Given the description of an element on the screen output the (x, y) to click on. 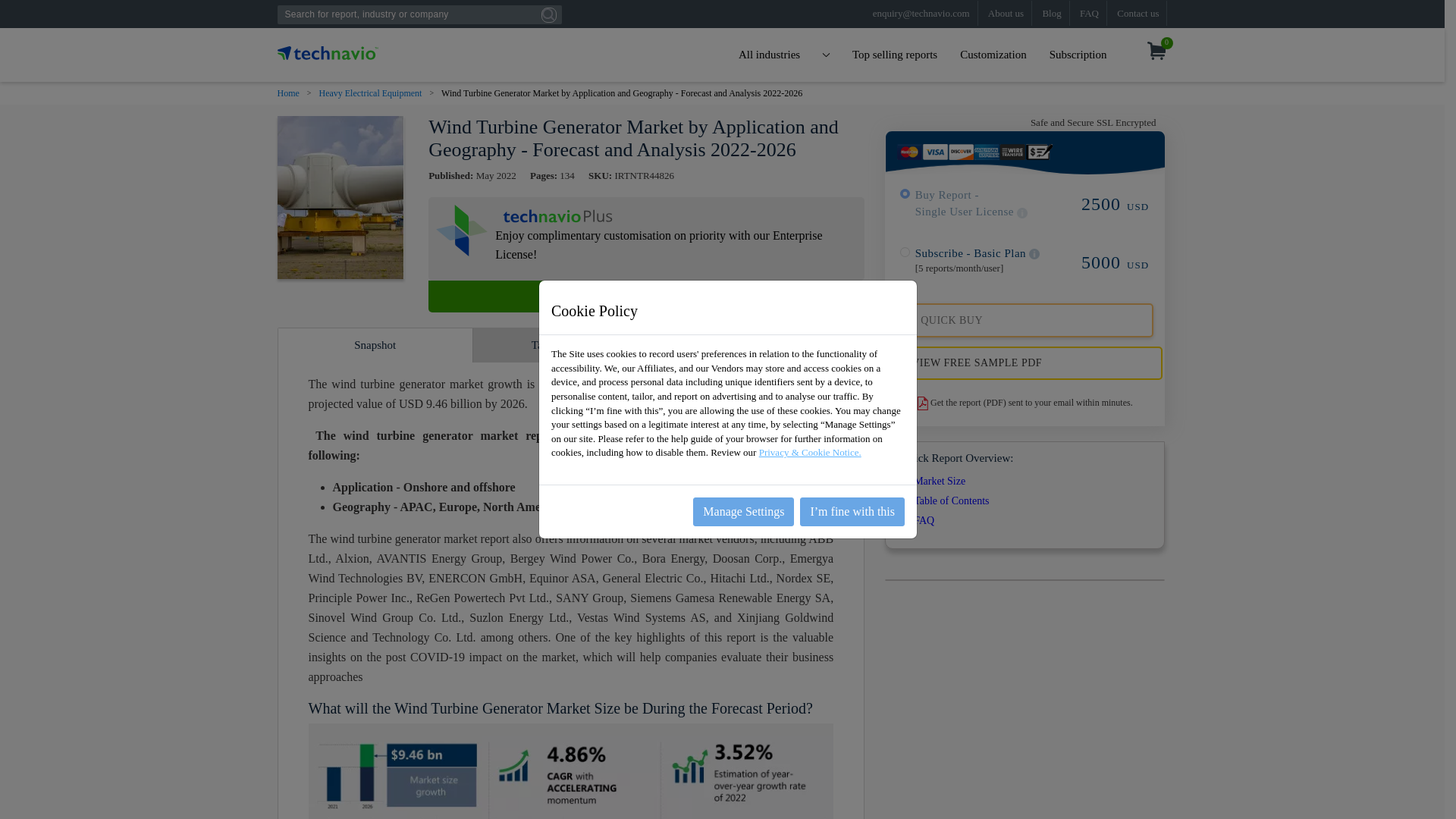
Subscription (1077, 54)
321236 (904, 194)
on (904, 252)
Contact us (1138, 12)
Customization (993, 54)
About us (1005, 12)
All industries (783, 54)
Top selling reports (894, 54)
All industries (783, 54)
Blog (1050, 12)
FAQ (1088, 12)
